Given the description of an element on the screen output the (x, y) to click on. 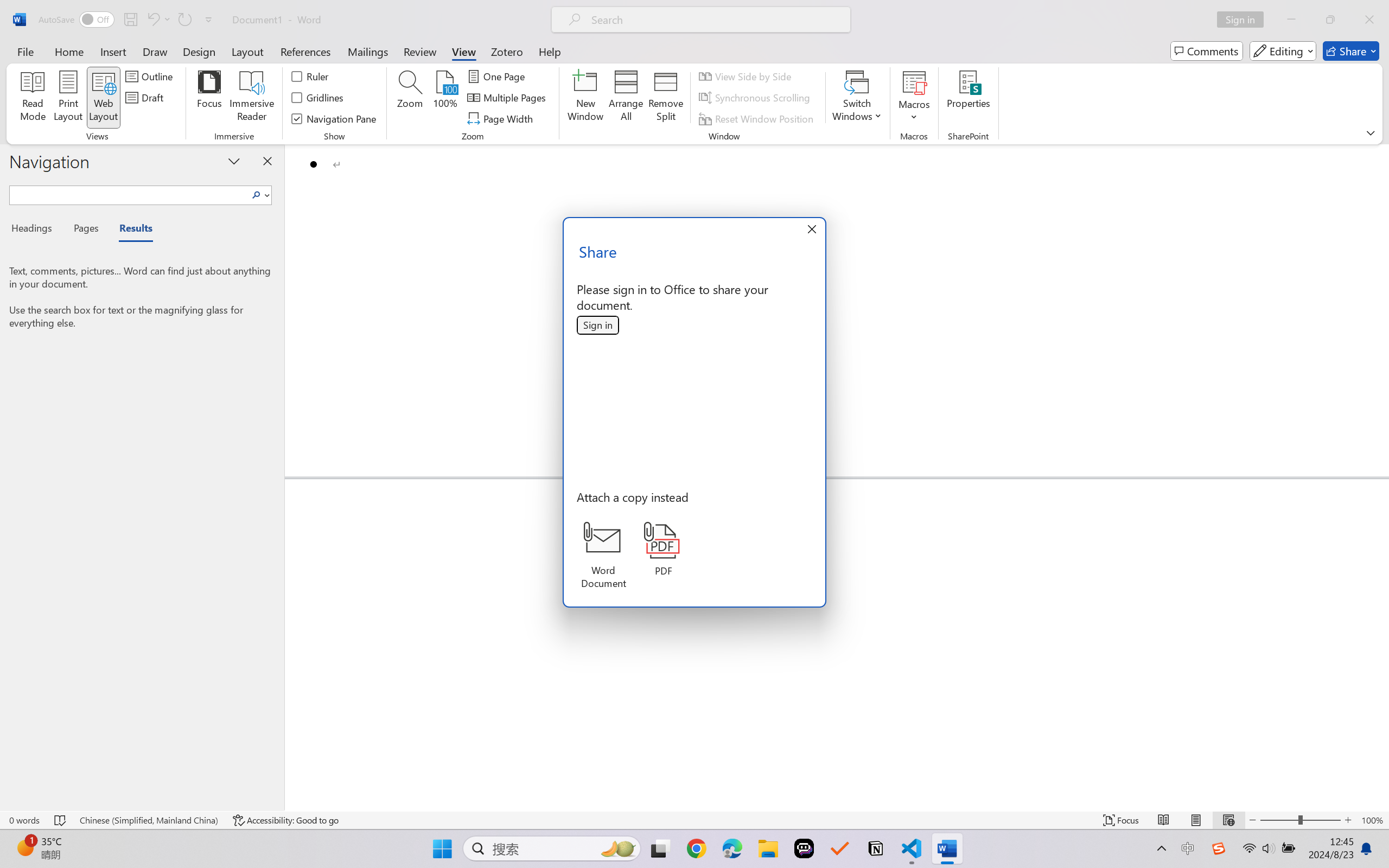
New Window (585, 97)
View Macros (914, 81)
Headings (35, 229)
Remove Split (665, 97)
Can't Repeat (184, 19)
